Given the description of an element on the screen output the (x, y) to click on. 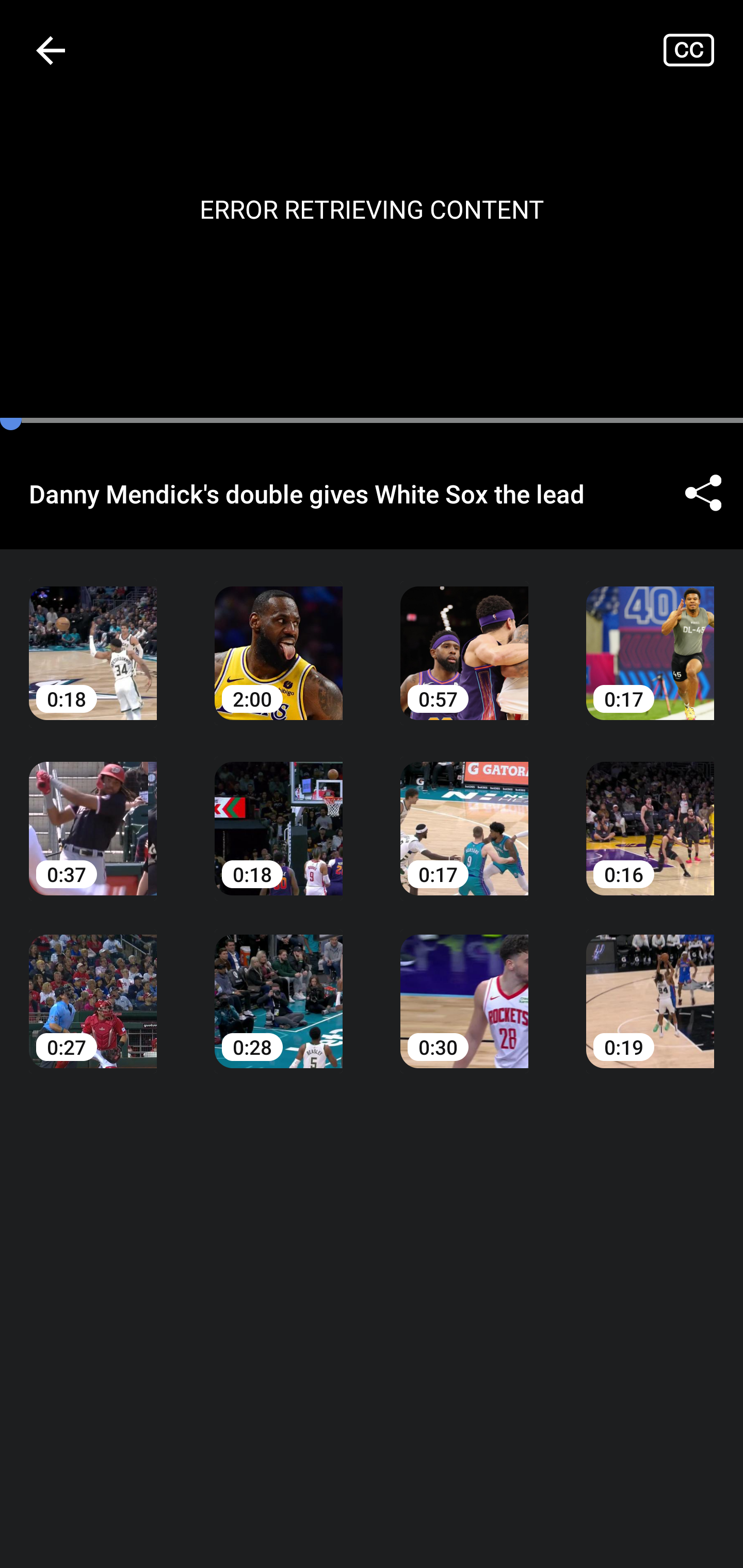
Navigate up (50, 50)
Closed captions  (703, 49)
Share © (703, 493)
0:18 (92, 637)
2:00 (278, 637)
0:57 (464, 637)
0:17 (650, 637)
0:37 (92, 813)
0:18 (278, 813)
0:17 (464, 813)
0:16 (650, 813)
0:27 (92, 987)
0:28 (278, 987)
0:30 (464, 987)
0:19 (650, 987)
